Given the description of an element on the screen output the (x, y) to click on. 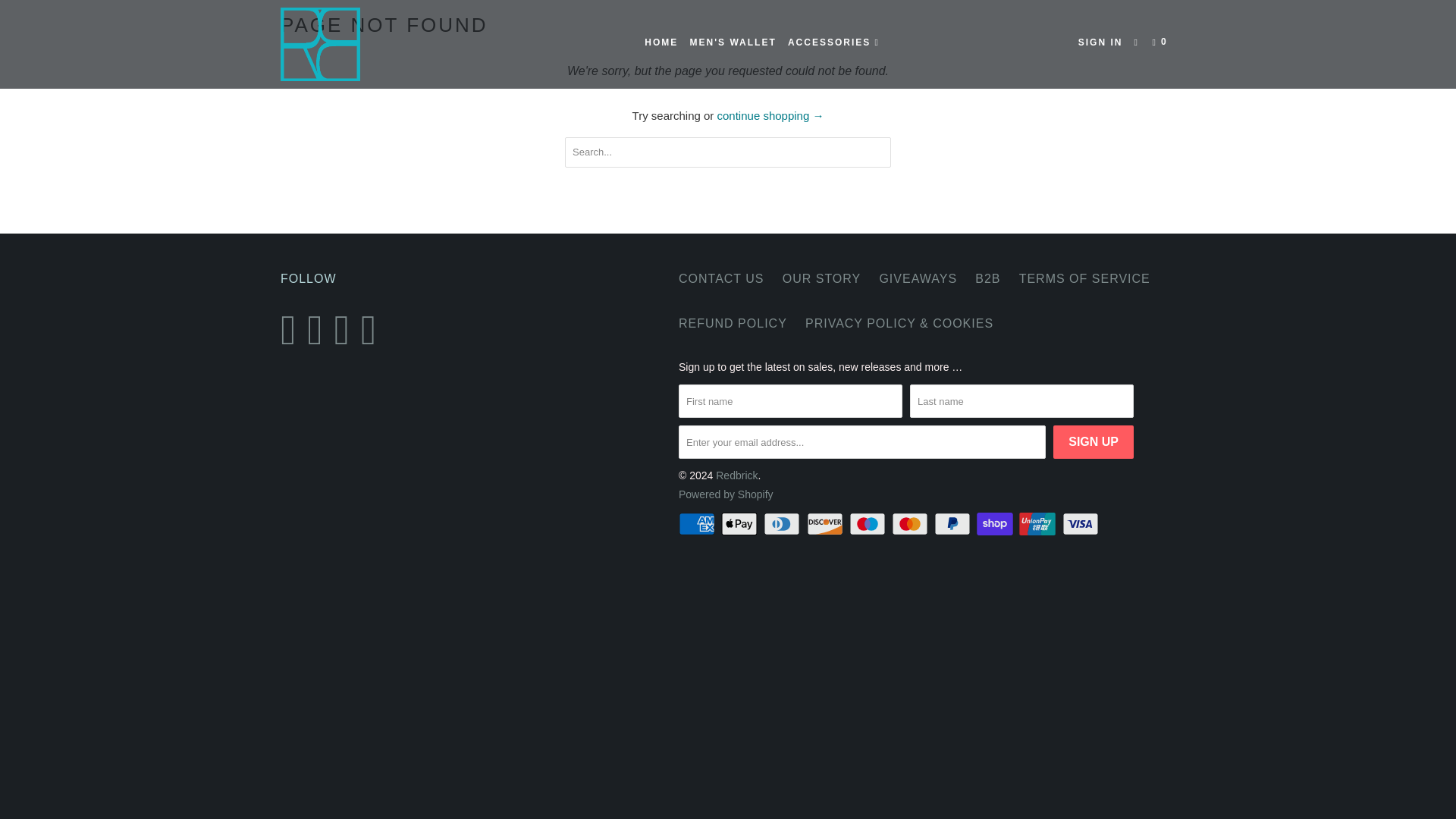
SIGN IN (1100, 42)
ACCESSORIES (833, 42)
CONTACT US (721, 278)
B2B (987, 278)
GIVEAWAYS (917, 278)
OUR STORY (822, 278)
HOME (661, 42)
MEN'S WALLET (732, 42)
My Account  (1100, 42)
0 (1161, 42)
